Given the description of an element on the screen output the (x, y) to click on. 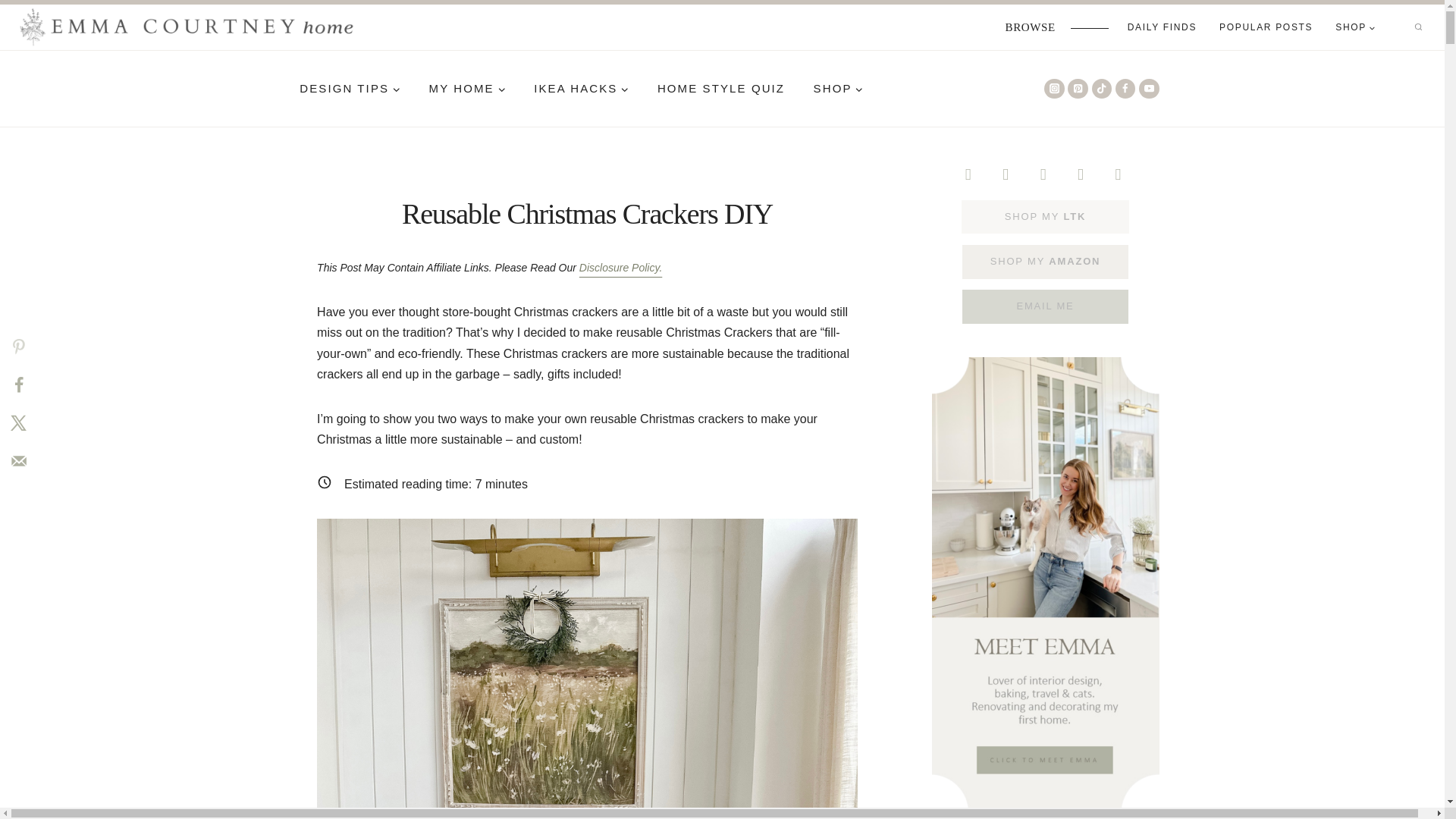
Save to Pinterest (18, 346)
POPULAR POSTS (1265, 27)
Share on Facebook (18, 384)
SHOP (1355, 27)
IKEA HACKS (581, 88)
Facebook (1005, 173)
MY HOME (466, 88)
DESIGN TIPS (349, 88)
SHOP (838, 88)
HOME STYLE QUIZ (721, 88)
